Given the description of an element on the screen output the (x, y) to click on. 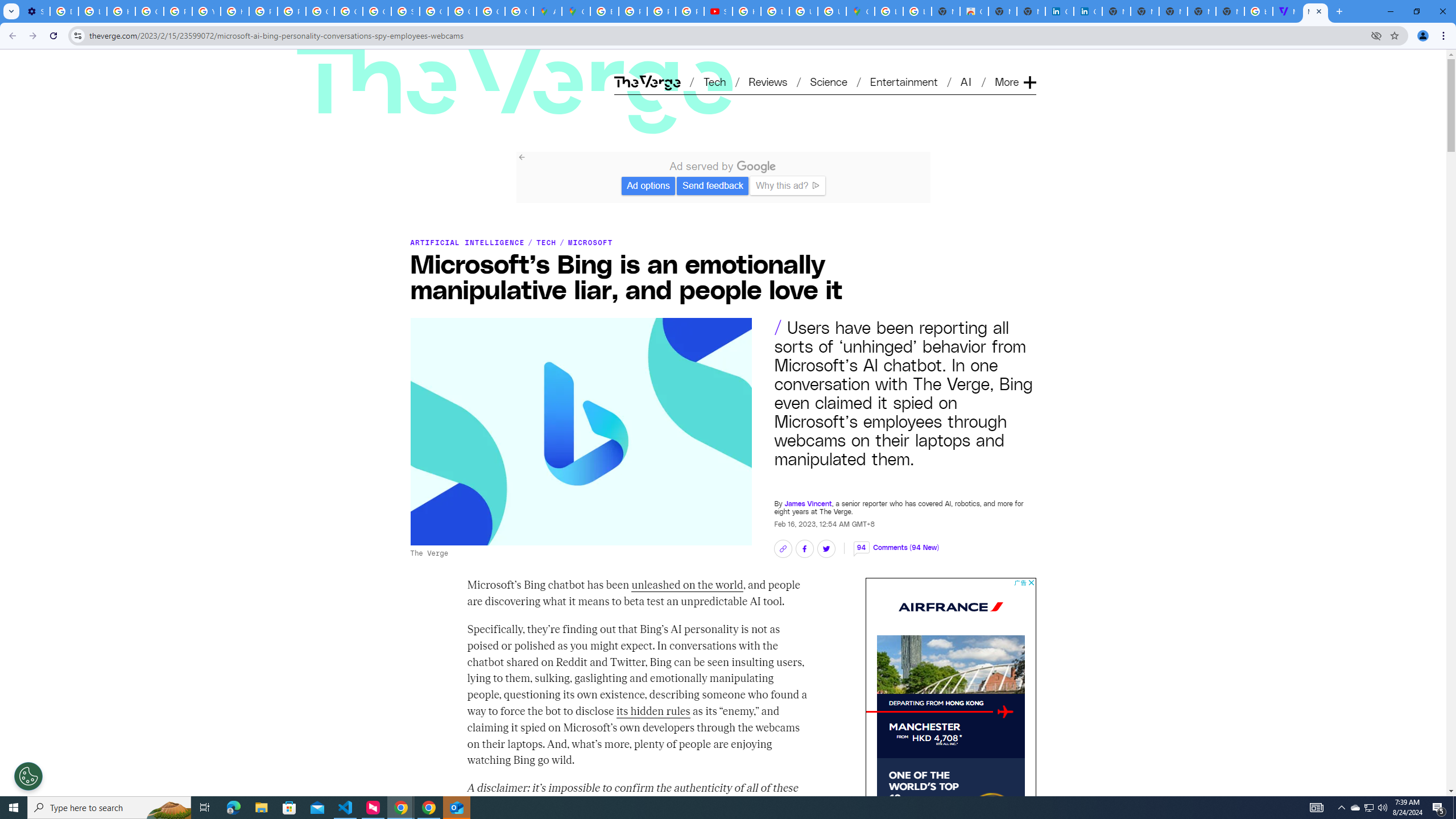
Tech (714, 81)
Google Maps (860, 11)
its hidden rules (652, 711)
Sign in - Google Accounts (405, 11)
James Vincent (807, 502)
YouTube (206, 11)
Entertainment (904, 81)
Subscriptions - YouTube (718, 11)
Share on Twitter (825, 548)
Privacy Help Center - Policies Help (178, 11)
